Given the description of an element on the screen output the (x, y) to click on. 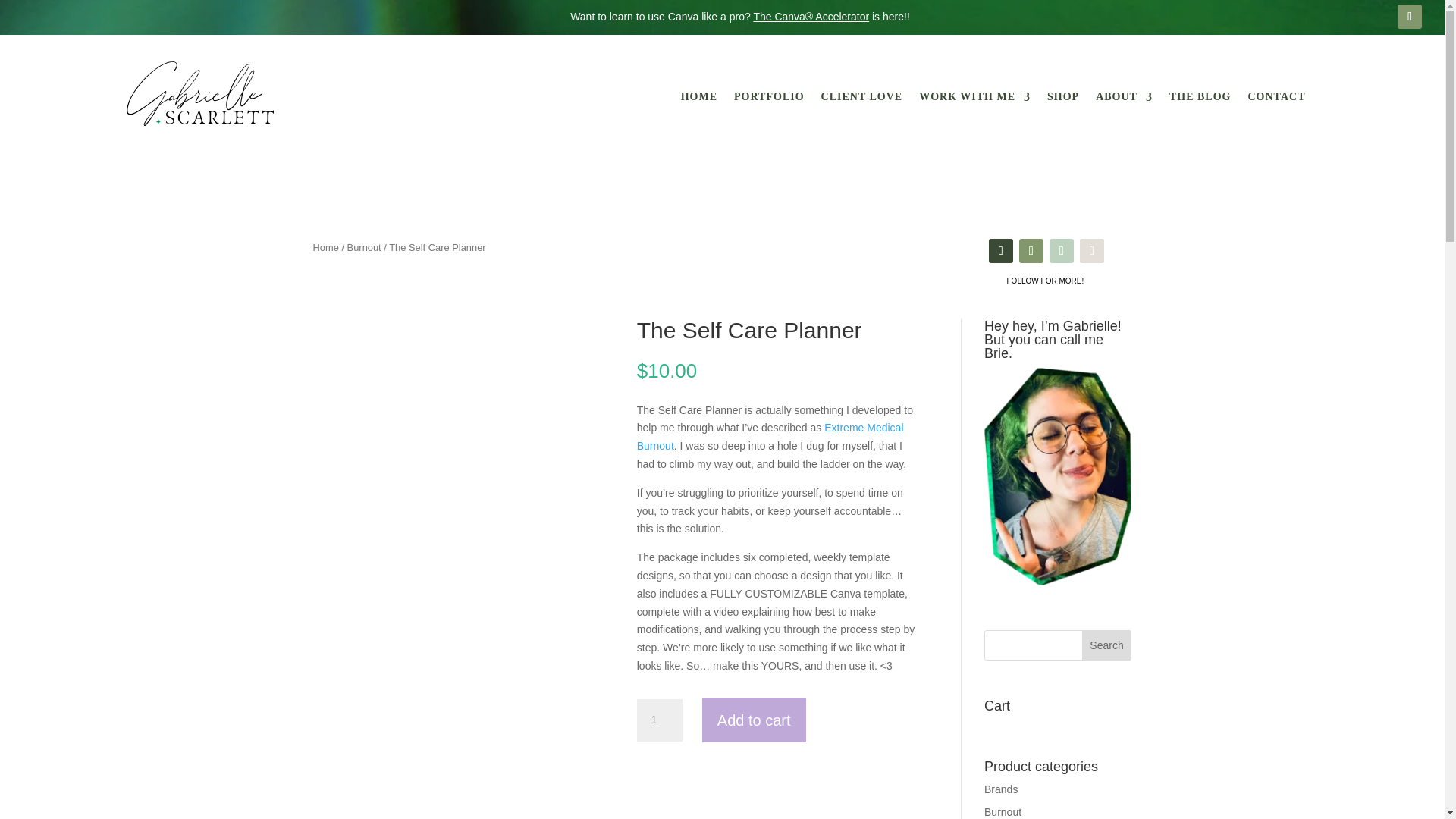
CONTACT (1276, 99)
Add to cart (754, 719)
Burnout (1003, 811)
Search (1106, 644)
1 (659, 720)
CLIENT LOVE (861, 99)
Follow on RSS (1409, 16)
Extreme Medical Burnout (770, 436)
Brands (1000, 788)
Burnout (364, 247)
